Given the description of an element on the screen output the (x, y) to click on. 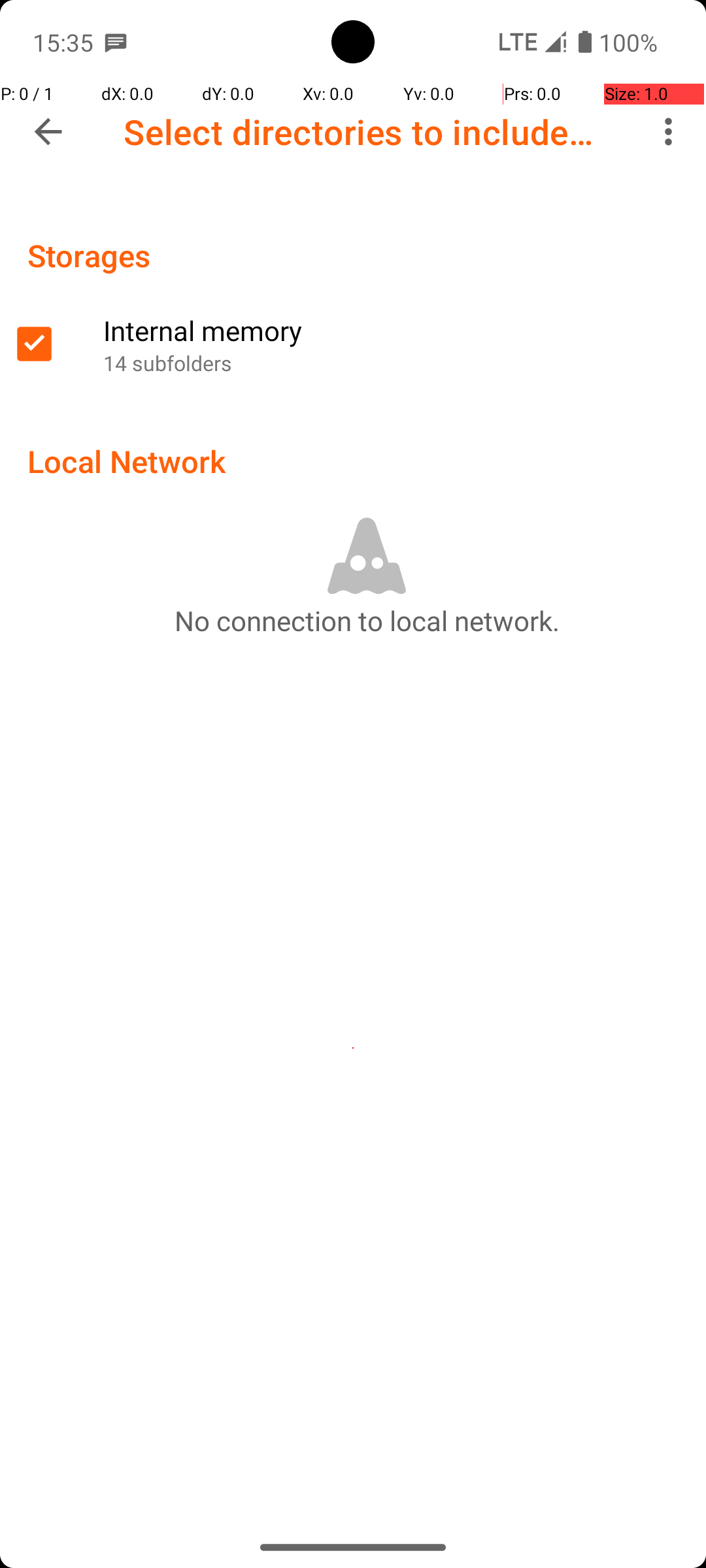
Select directories to include in the media library Element type: android.widget.TextView (363, 131)
Folder: Internal memory Element type: android.view.ViewGroup (353, 344)
14 subfolders Element type: android.widget.TextView (397, 362)
